Given the description of an element on the screen output the (x, y) to click on. 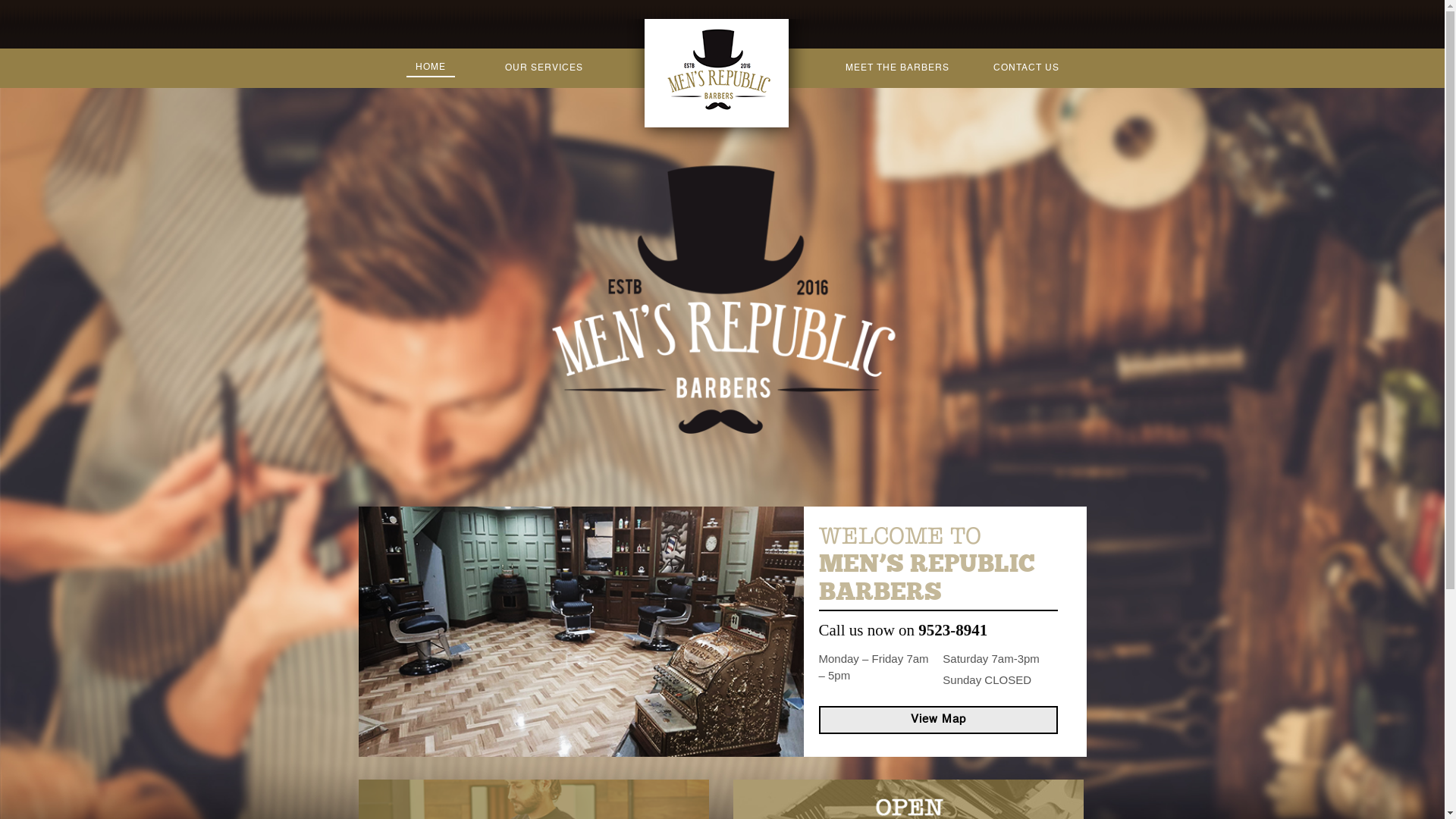
MEET THE BARBERS Element type: text (897, 67)
OUR SERVICES Element type: text (543, 67)
CONTACT US Element type: text (1026, 67)
View Map Element type: text (938, 720)
HOME Element type: text (430, 66)
site_logo Element type: hover (718, 83)
